Given the description of an element on the screen output the (x, y) to click on. 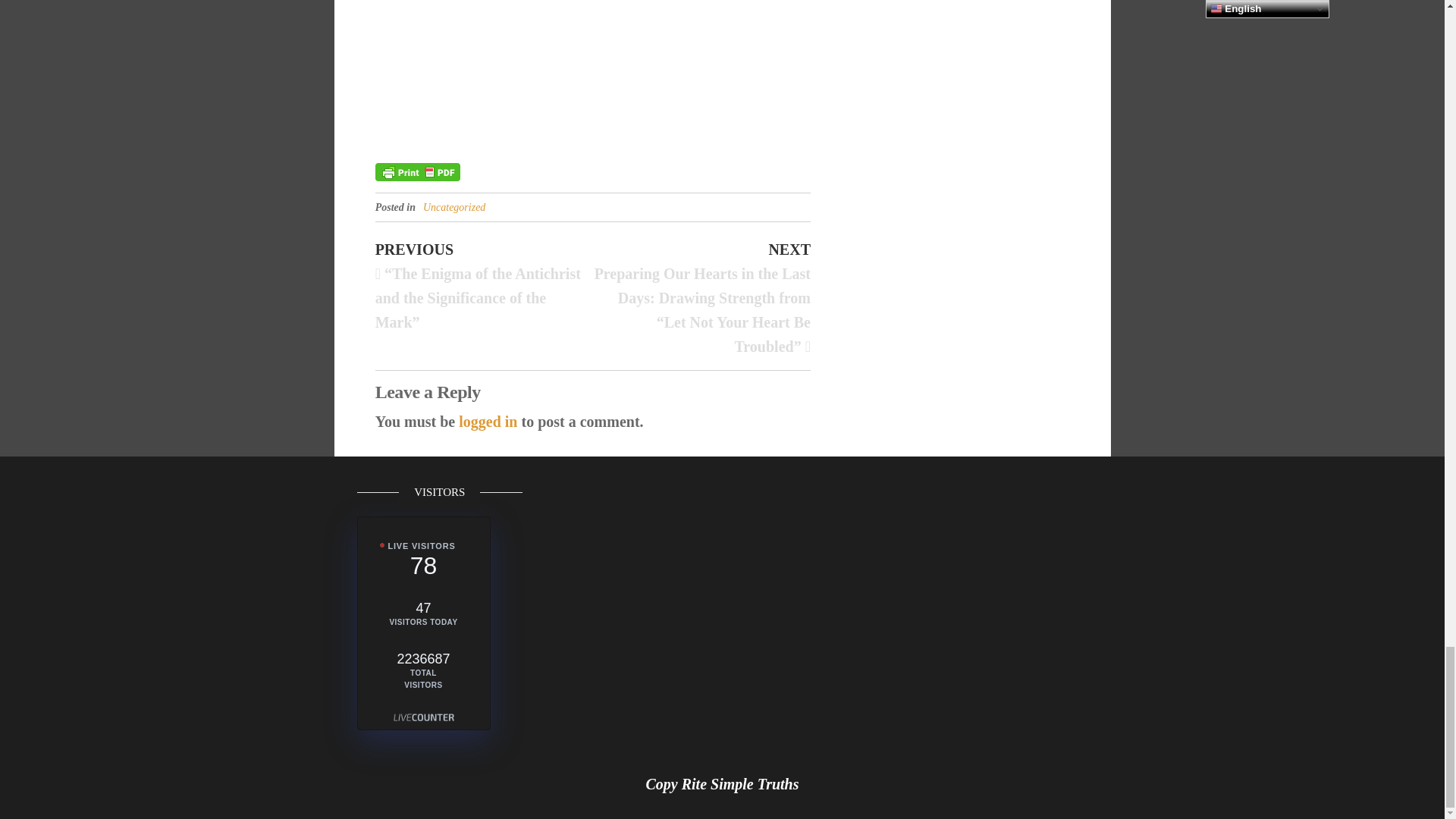
logged in (487, 421)
Uncategorized (453, 206)
